Given the description of an element on the screen output the (x, y) to click on. 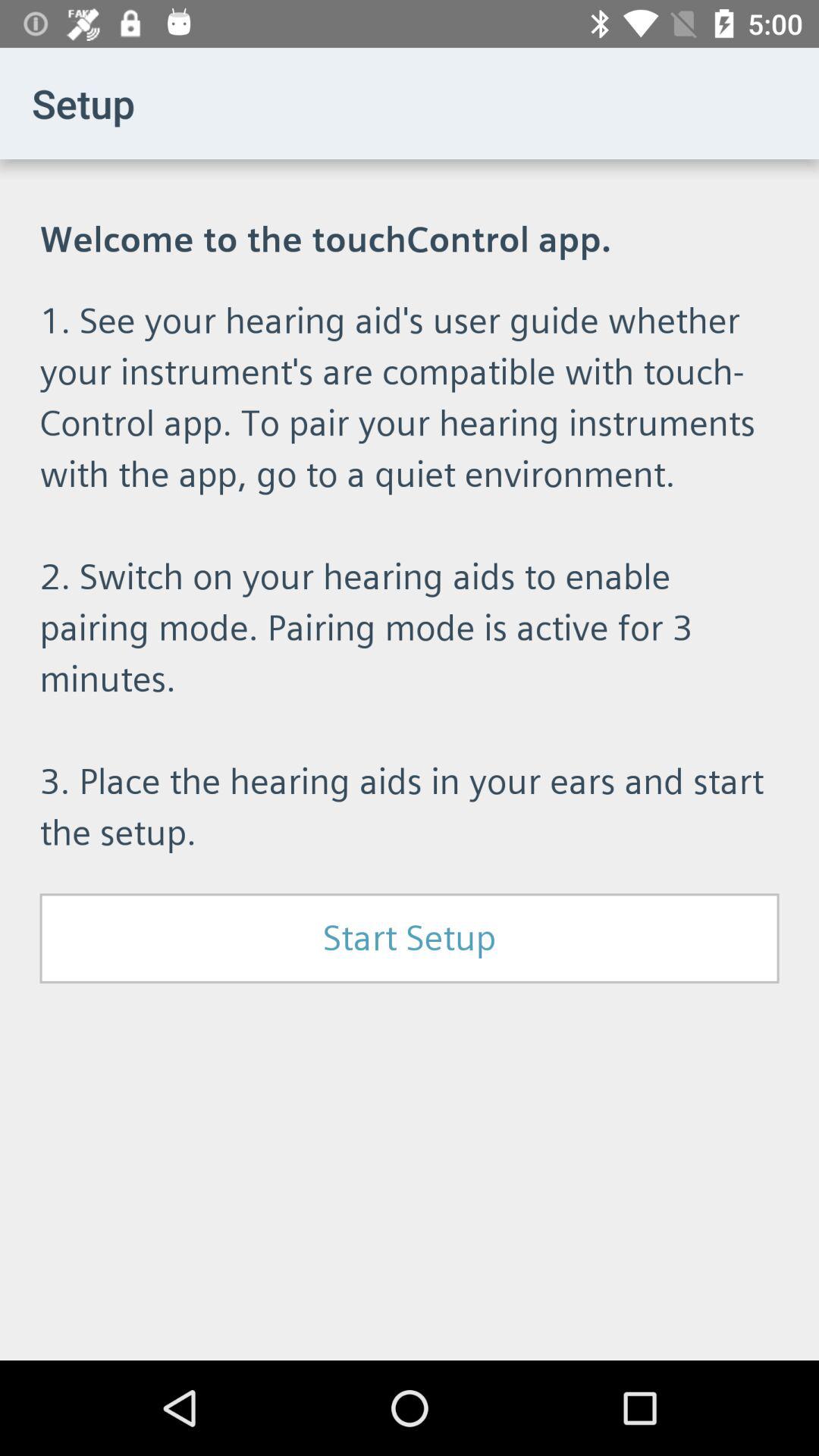
turn on the start setup item (409, 938)
